Given the description of an element on the screen output the (x, y) to click on. 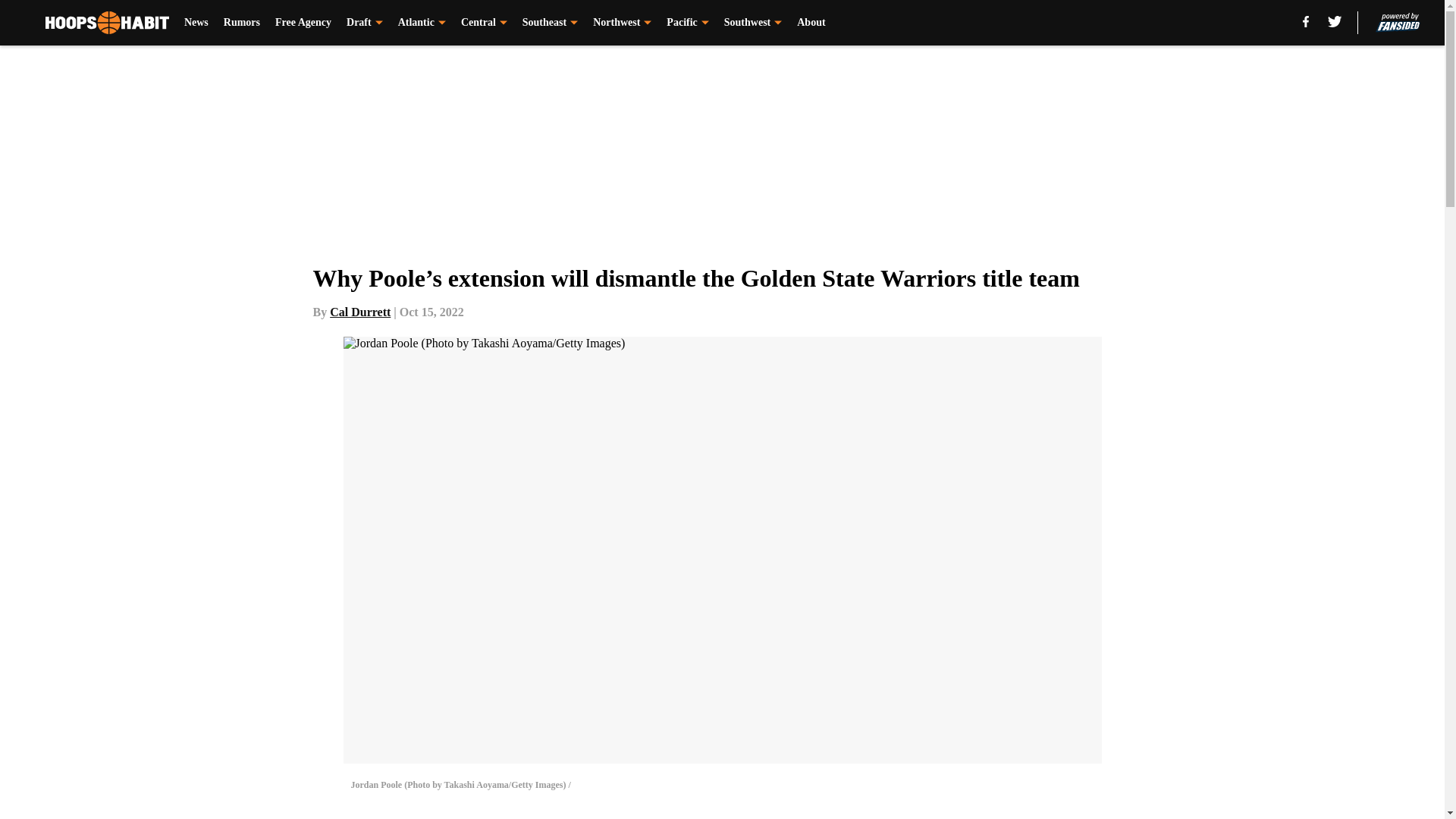
Draft (364, 22)
Central (483, 22)
Northwest (621, 22)
News (196, 22)
Rumors (242, 22)
Free Agency (303, 22)
Atlantic (421, 22)
Southeast (550, 22)
